Given the description of an element on the screen output the (x, y) to click on. 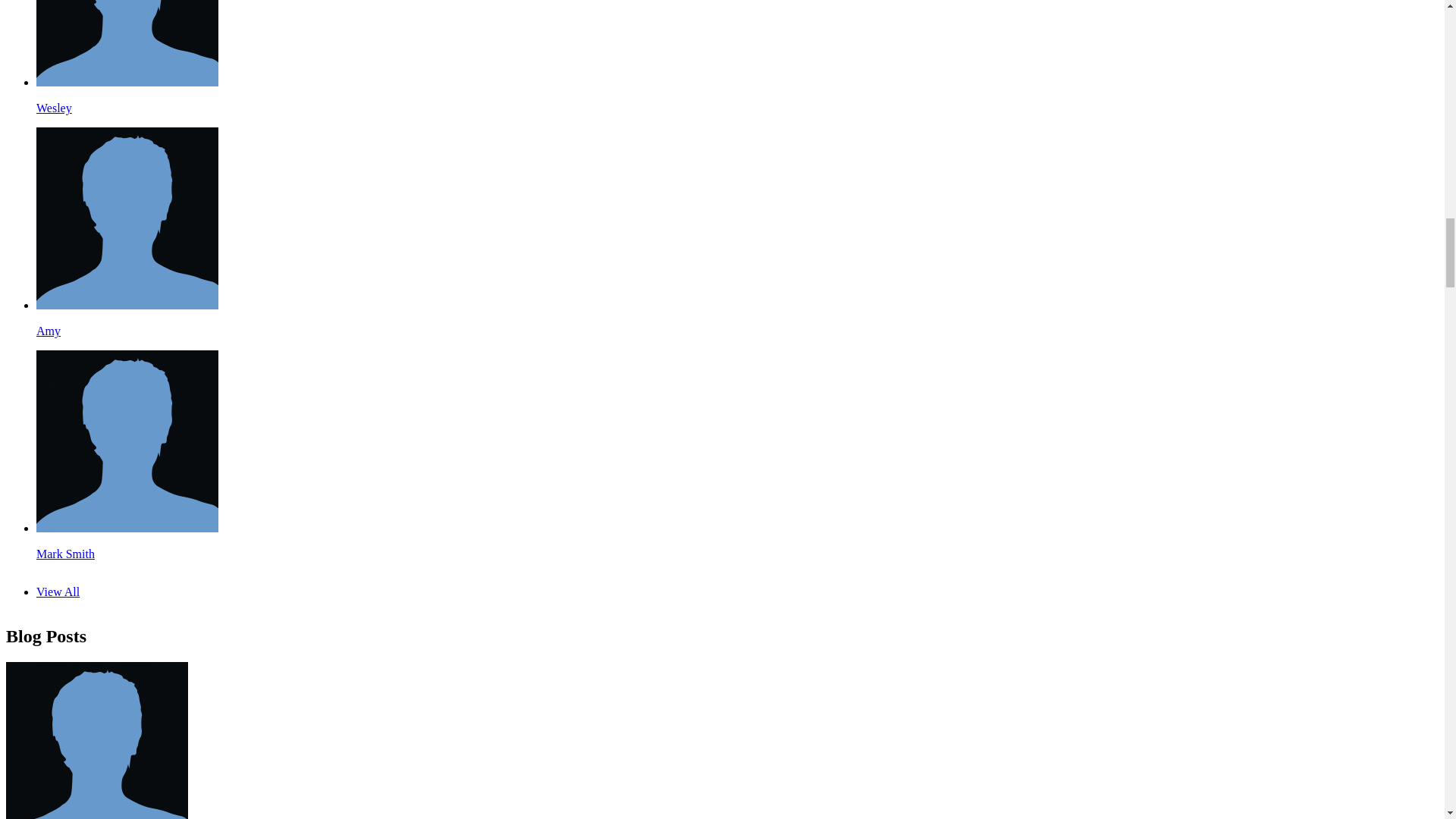
Wesley (53, 107)
View All (58, 591)
Amy (127, 305)
Mark Smith (127, 527)
Wesley (127, 82)
Mark Smith (65, 553)
Amy (48, 330)
